Given the description of an element on the screen output the (x, y) to click on. 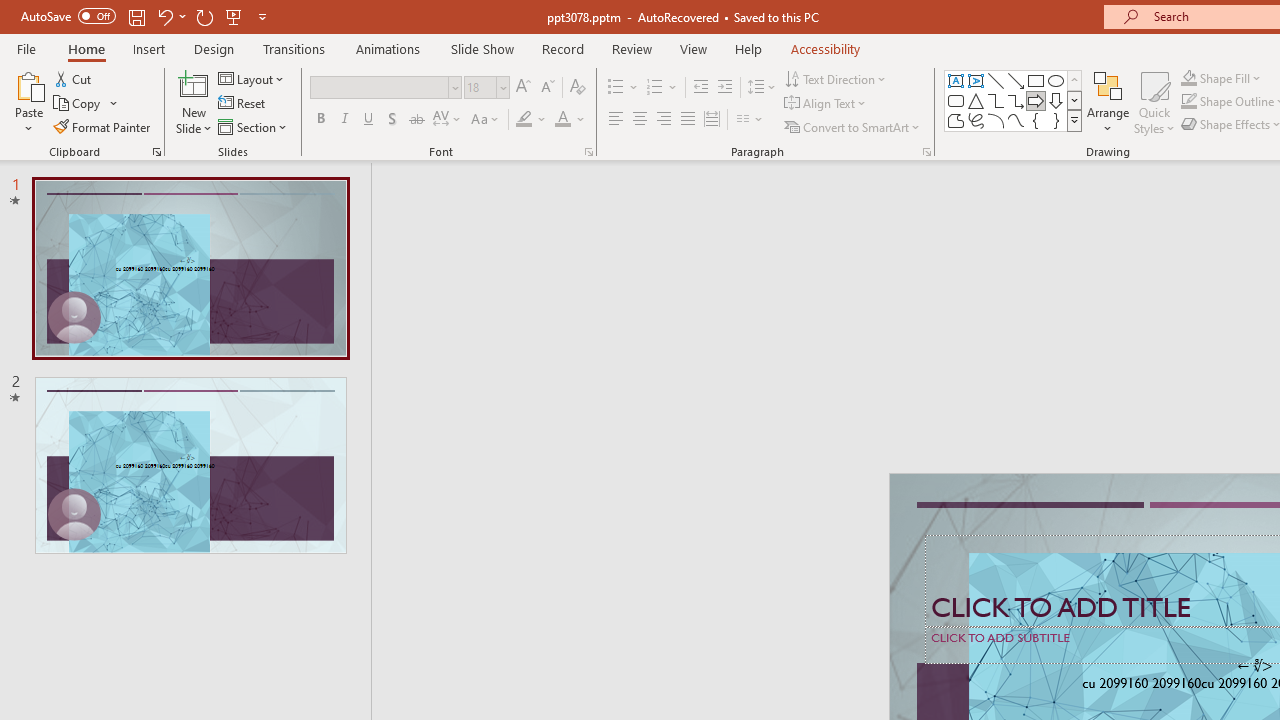
Clear Formatting (577, 87)
Arrange (1108, 102)
TextBox 7 (1254, 666)
Section (254, 126)
Shadow (392, 119)
